Given the description of an element on the screen output the (x, y) to click on. 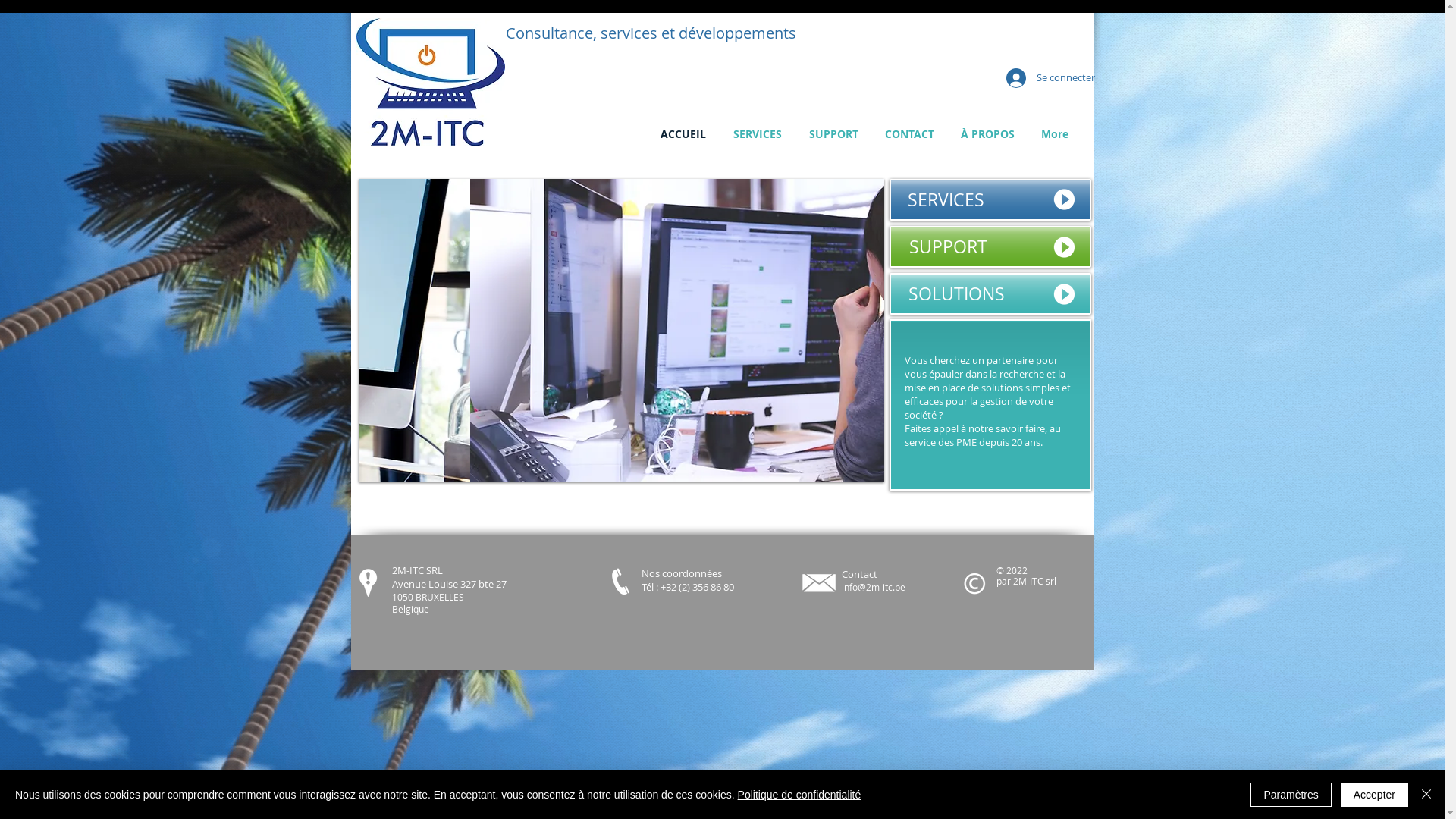
CONTACT Element type: text (909, 133)
ACCUEIL Element type: text (682, 133)
SERVICES Element type: text (756, 133)
SERVICES Element type: text (989, 199)
SOLUTIONS Element type: text (989, 293)
SUPPORT Element type: text (832, 133)
Se connecter Element type: text (1039, 77)
info@2m-itc.be Element type: text (873, 586)
SUPPORT Element type: text (989, 246)
Accepter Element type: text (1374, 794)
